Given the description of an element on the screen output the (x, y) to click on. 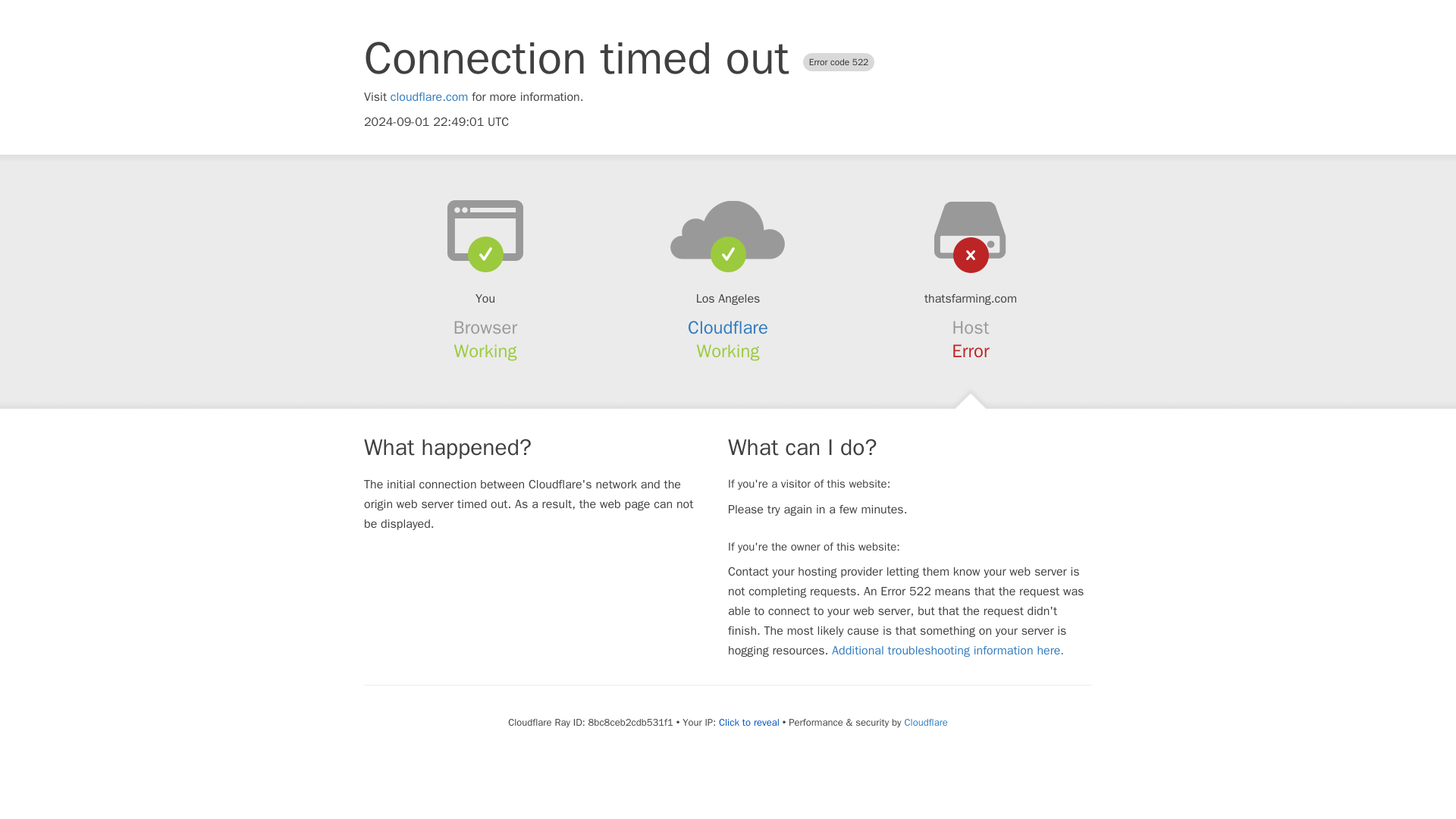
Additional troubleshooting information here. (947, 650)
Cloudflare (925, 721)
Click to reveal (748, 722)
cloudflare.com (429, 96)
Cloudflare (727, 327)
